Given the description of an element on the screen output the (x, y) to click on. 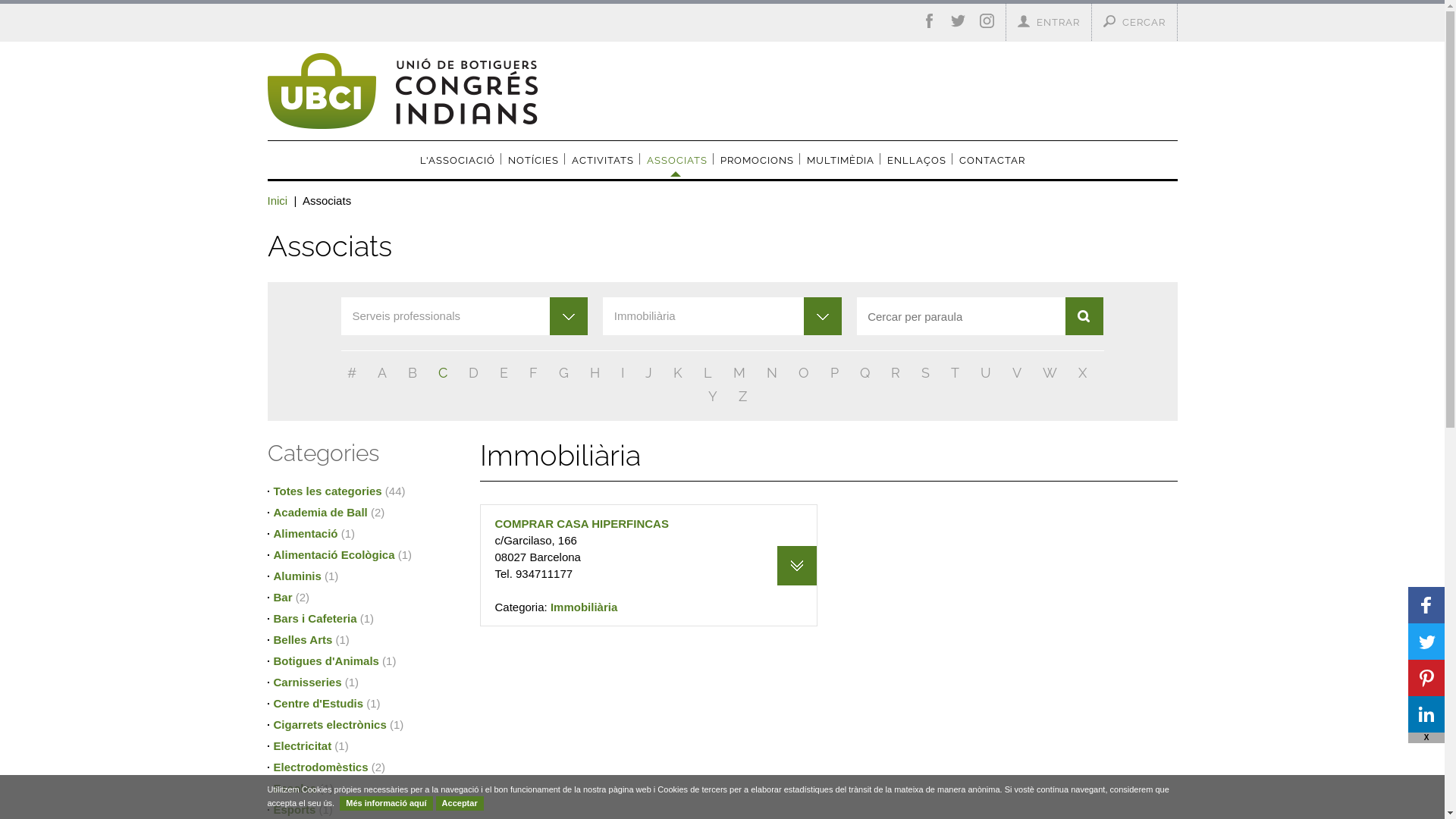
ACTIVITATS Element type: text (602, 160)
Acceptar Element type: text (459, 803)
Bar Element type: text (282, 596)
Aluminis Element type: text (296, 575)
Belles Arts Element type: text (302, 639)
LinkedIn Element type: hover (1426, 714)
PROMOCIONS Element type: text (756, 160)
Electricitat Element type: text (302, 745)
COMPRAR CASA HIPERFINCAS Element type: text (581, 523)
Instagram Element type: hover (986, 24)
Escoles Element type: text (294, 787)
Carnisseries Element type: text (307, 681)
Academia de Ball Element type: text (320, 511)
Facebook Element type: hover (929, 24)
Totes les categories Element type: text (327, 490)
Bars i Cafeteria Element type: text (314, 617)
Facebook Element type: hover (1426, 605)
Esports Element type: text (294, 809)
ENTRAR Element type: text (1057, 22)
CONTACTAR Element type: text (991, 160)
Pinterest Element type: hover (1426, 677)
CERCAR Element type: text (1143, 22)
C Element type: text (442, 372)
Twitter Element type: hover (1426, 641)
Twitter Element type: hover (957, 24)
Centre d'Estudis Element type: text (318, 702)
Botigues d'Animals Element type: text (325, 660)
Inici Element type: text (276, 200)
ASSOCIATS Element type: text (670, 163)
